Given the description of an element on the screen output the (x, y) to click on. 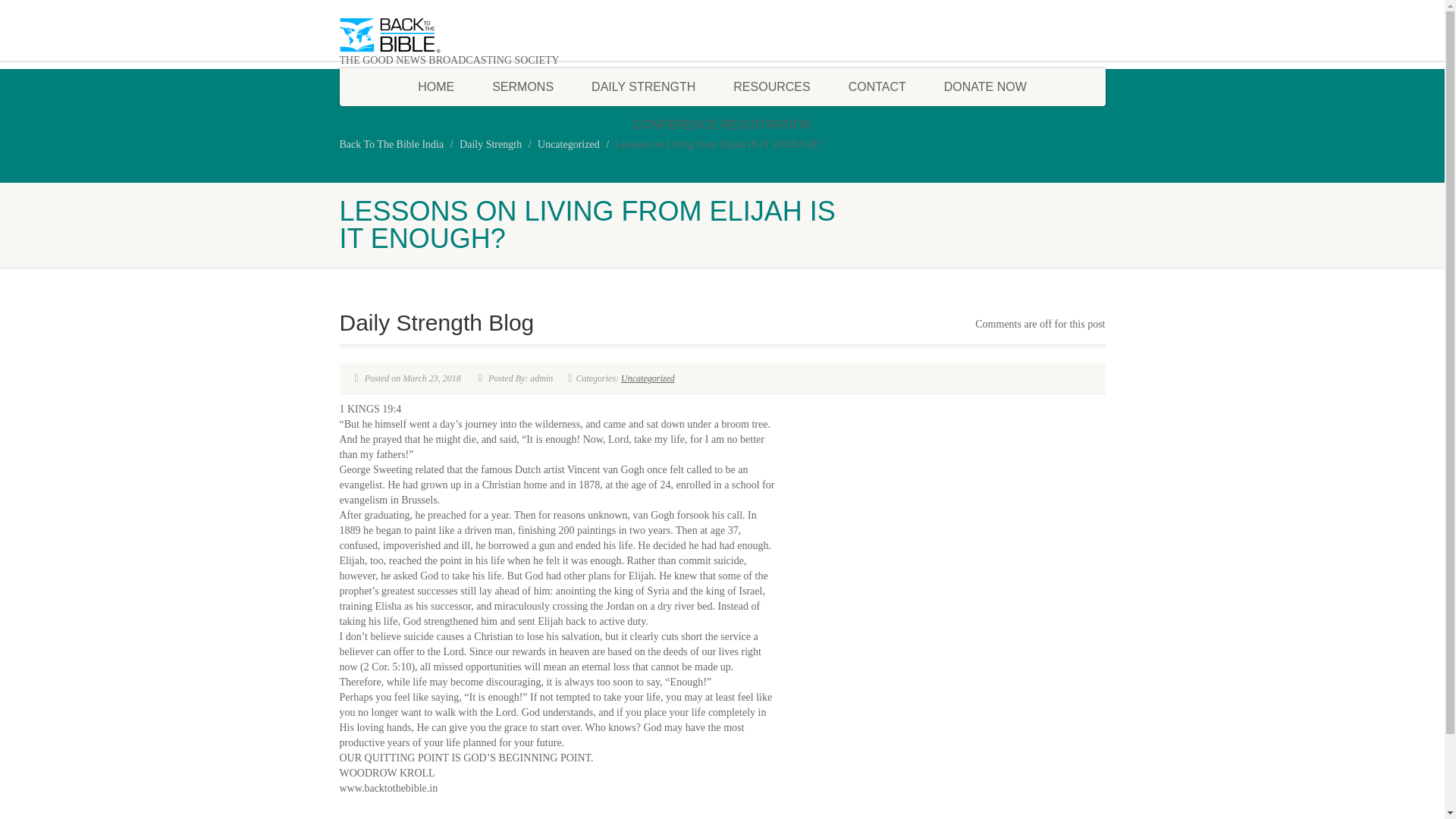
Go to the Uncategorized Category archives. (568, 143)
DAILY STRENGTH (643, 86)
Go to Back To The Bible India. (391, 143)
RESOURCES (771, 86)
SERMONS (522, 86)
Daily Strength (490, 143)
Go to Daily Strength. (490, 143)
Uncategorized (648, 378)
CONTACT (876, 86)
Back To The Bible India (391, 143)
HOME (435, 86)
CONFERENCE REGISTRATION (721, 125)
DONATE NOW (984, 86)
Back to the Bible (459, 34)
Uncategorized (568, 143)
